Given the description of an element on the screen output the (x, y) to click on. 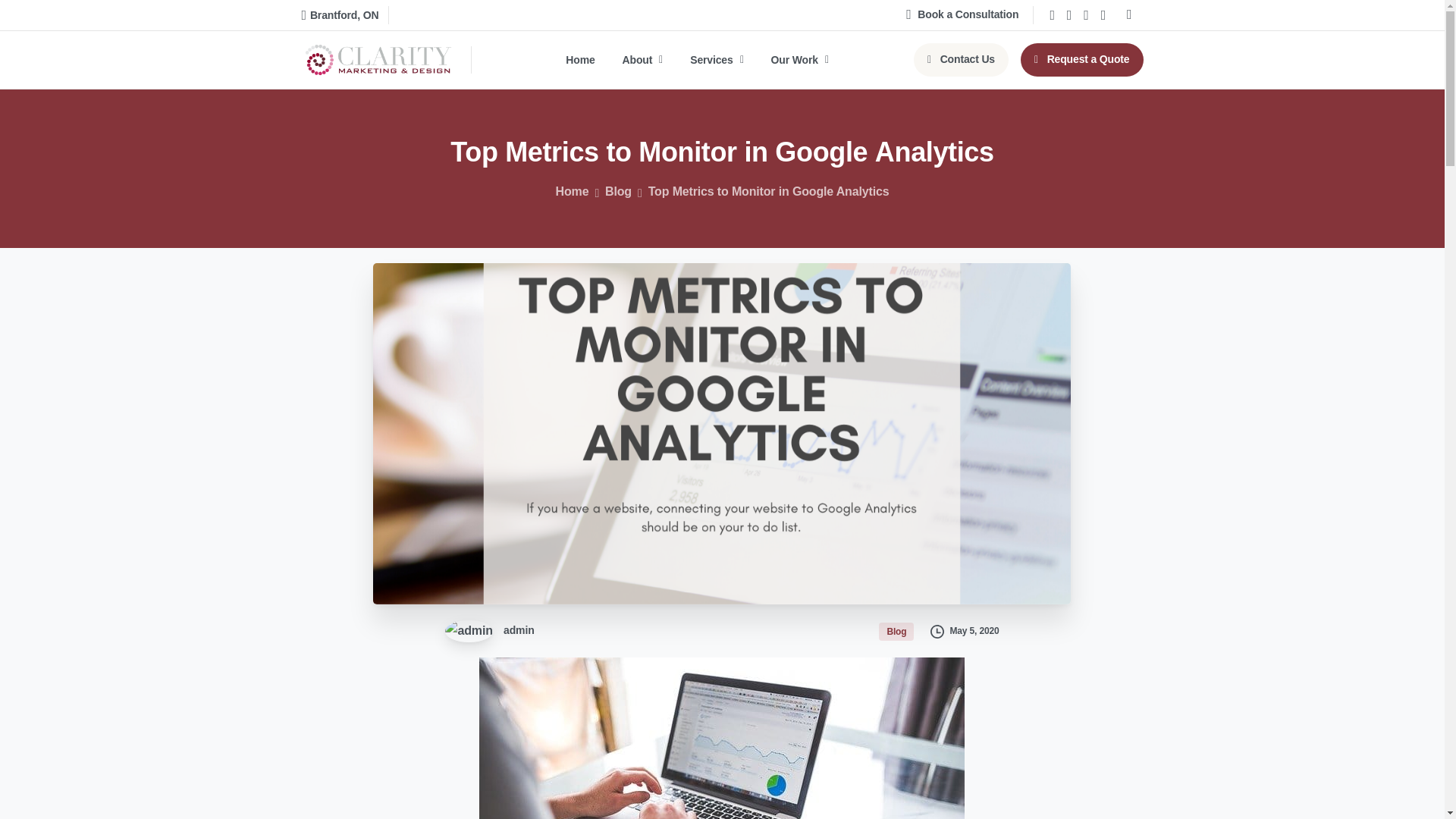
Book a Consultation (961, 15)
instagram (1103, 15)
About (642, 59)
Blog (898, 630)
Contact Us (961, 59)
Our Work (799, 59)
Facebook (1051, 15)
Home (572, 191)
About (642, 59)
Services (716, 59)
May 5, 2020 (960, 629)
linkedin (1085, 15)
youtube (1069, 15)
Request a Quote (1081, 59)
Our Work (799, 59)
